Given the description of an element on the screen output the (x, y) to click on. 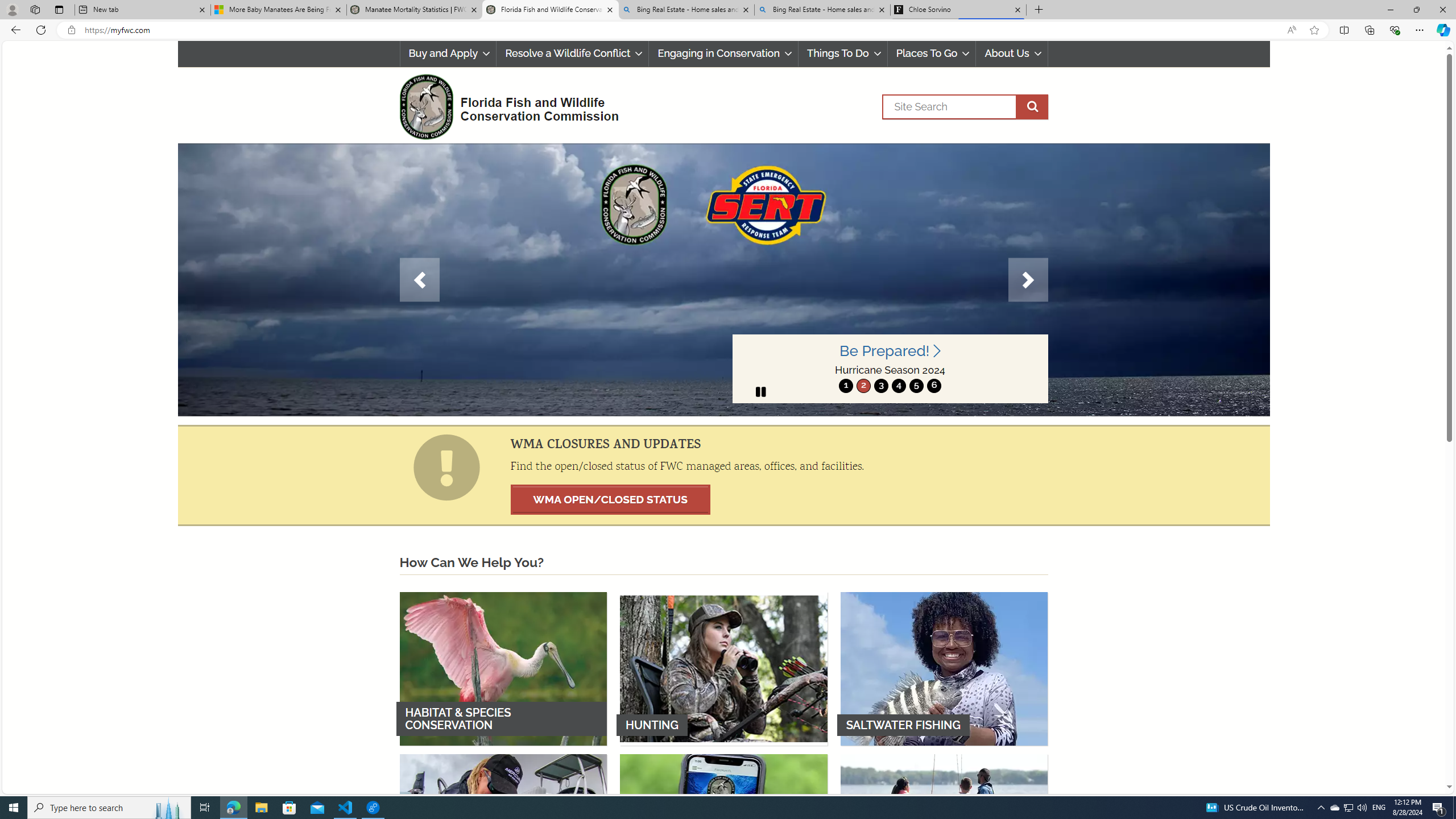
move to slide 3 (880, 385)
